Given the description of an element on the screen output the (x, y) to click on. 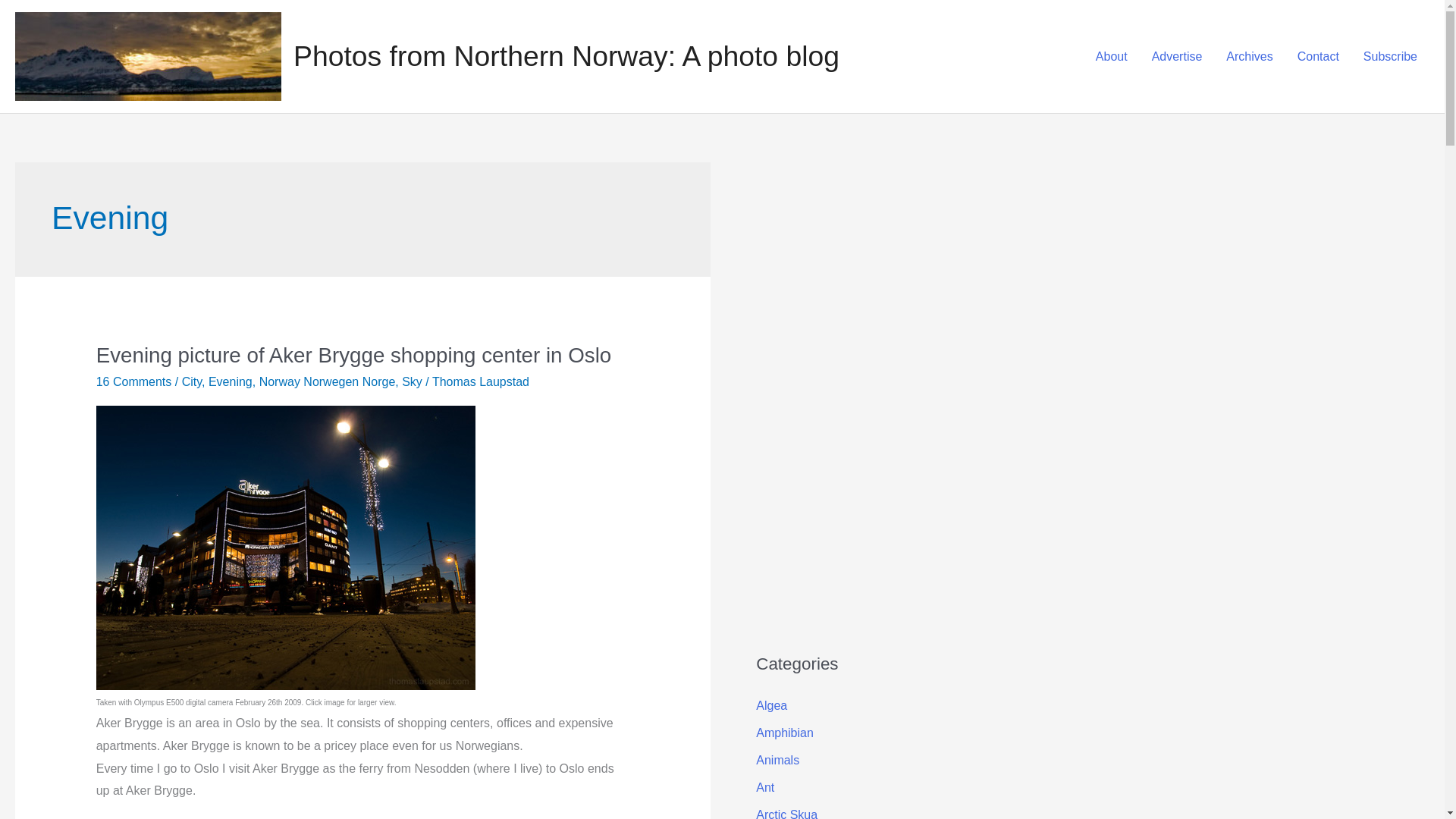
Sky (411, 381)
Evening (229, 381)
Photos from Northern Norway: A photo blog (567, 56)
About (1111, 56)
City (192, 381)
16 Comments (133, 381)
Contact (1318, 56)
Advertisement (869, 389)
Thomas Laupstad (480, 381)
Subscribe (1390, 56)
Archives (1249, 56)
Evening picture of Aker Brygge shopping center in Oslo (286, 545)
Evening picture of Aker Brygge shopping center in Oslo (353, 354)
View all posts by Thomas Laupstad (480, 381)
Advertise (1177, 56)
